Given the description of an element on the screen output the (x, y) to click on. 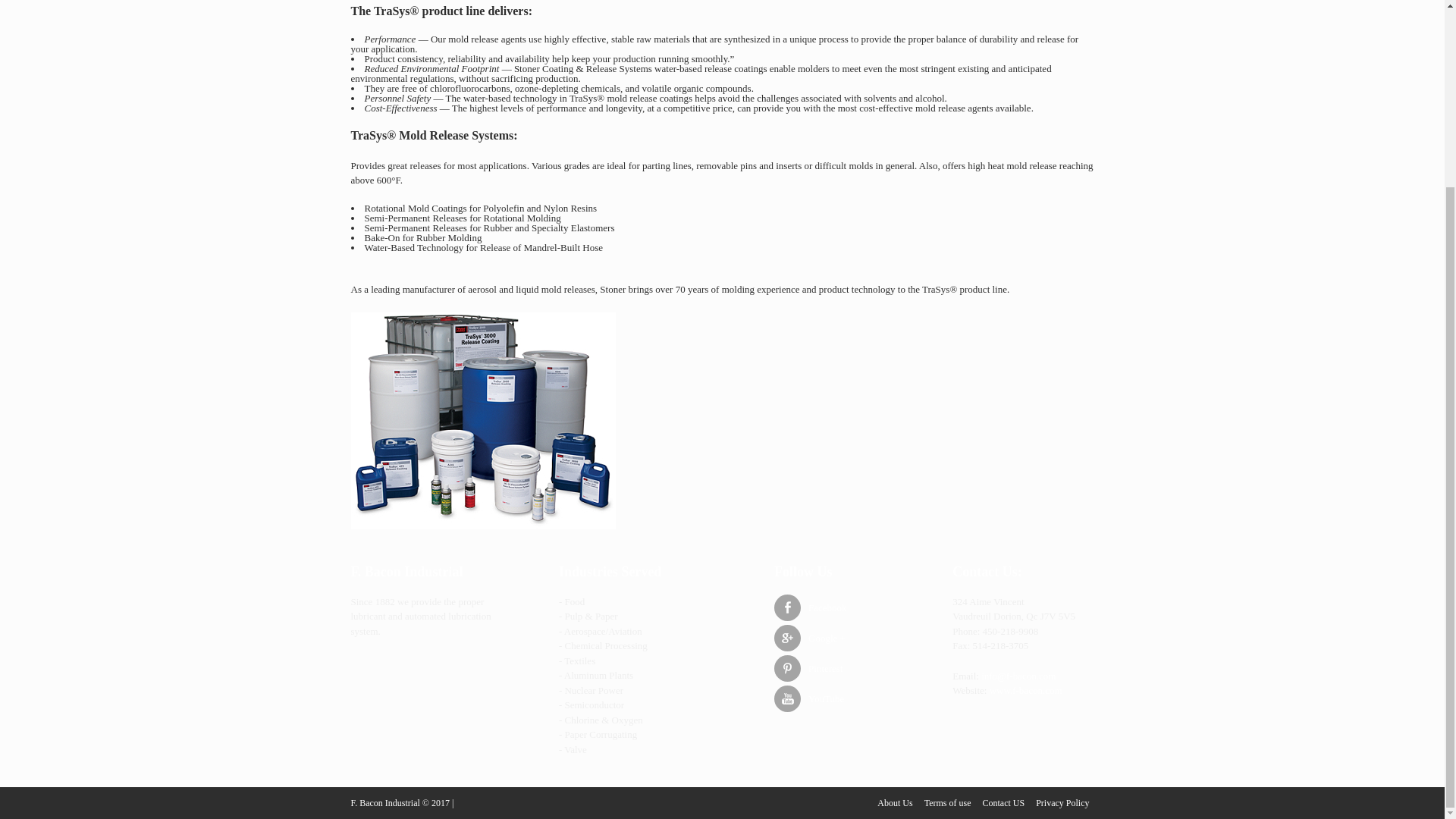
YouTube (840, 698)
Facebook (840, 607)
Google Plus (840, 637)
Pinterest (840, 668)
